Given the description of an element on the screen output the (x, y) to click on. 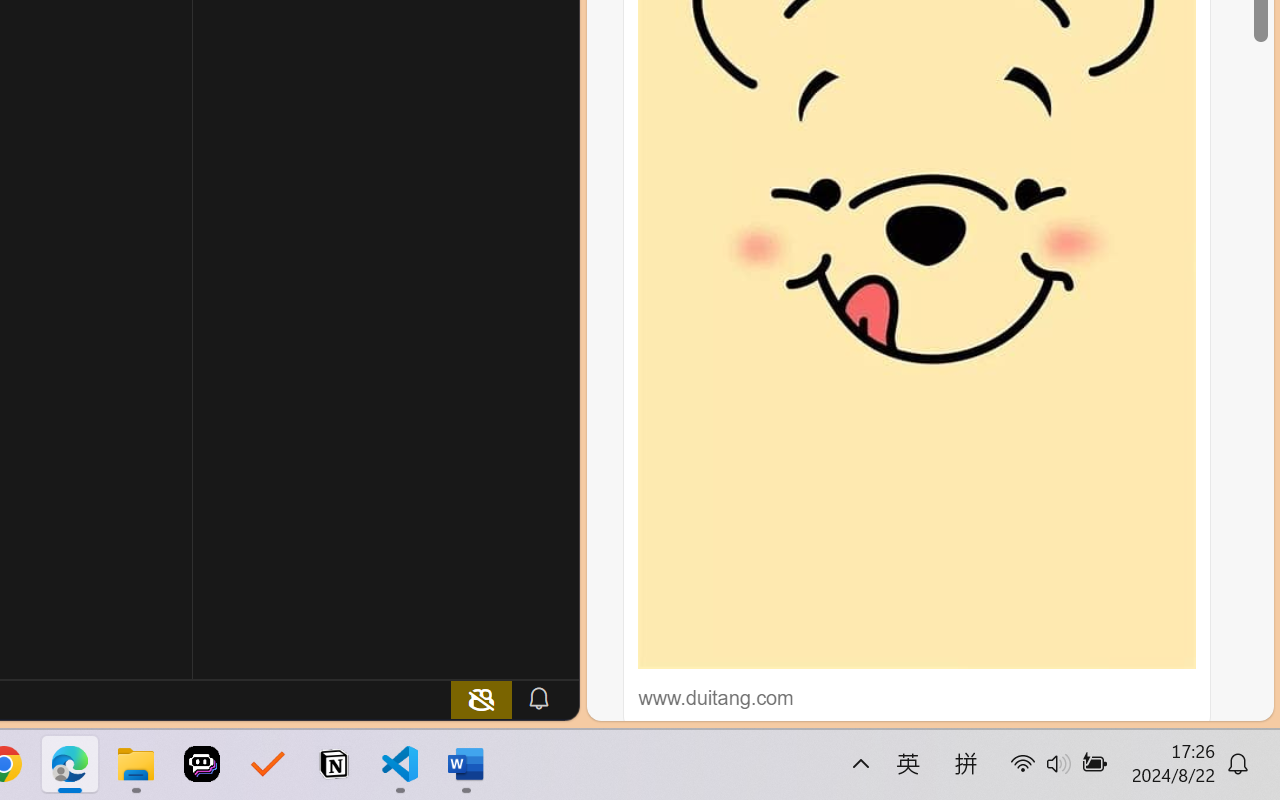
copilot-notconnected, Copilot error (click for details) (481, 698)
Notifications (537, 698)
